Given the description of an element on the screen output the (x, y) to click on. 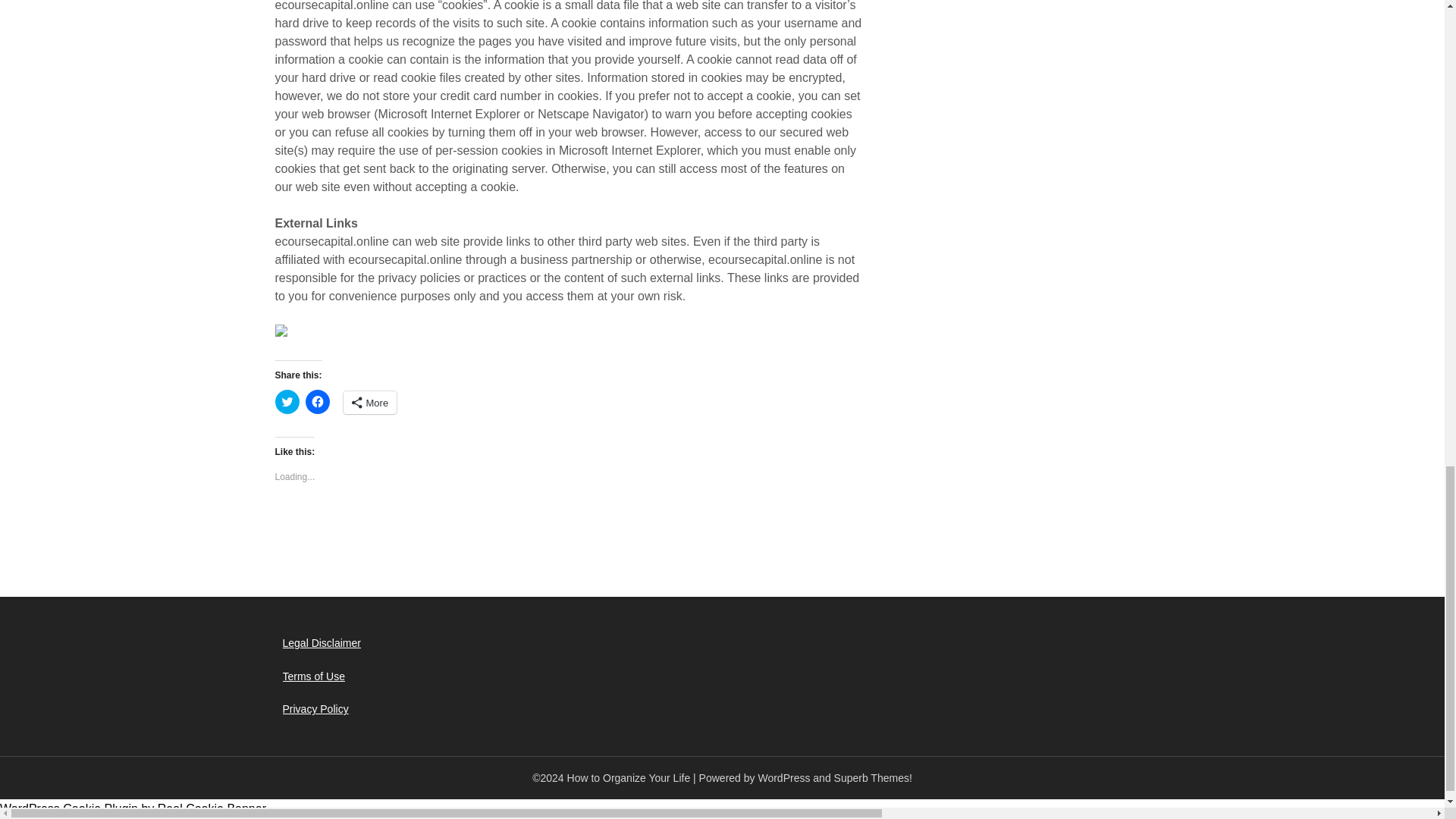
Terms of Use (312, 676)
Click to share on Facebook (316, 401)
Legal Disclaimer (320, 643)
Like or Reblog (569, 529)
More (369, 402)
Click to share on Twitter (286, 401)
